Given the description of an element on the screen output the (x, y) to click on. 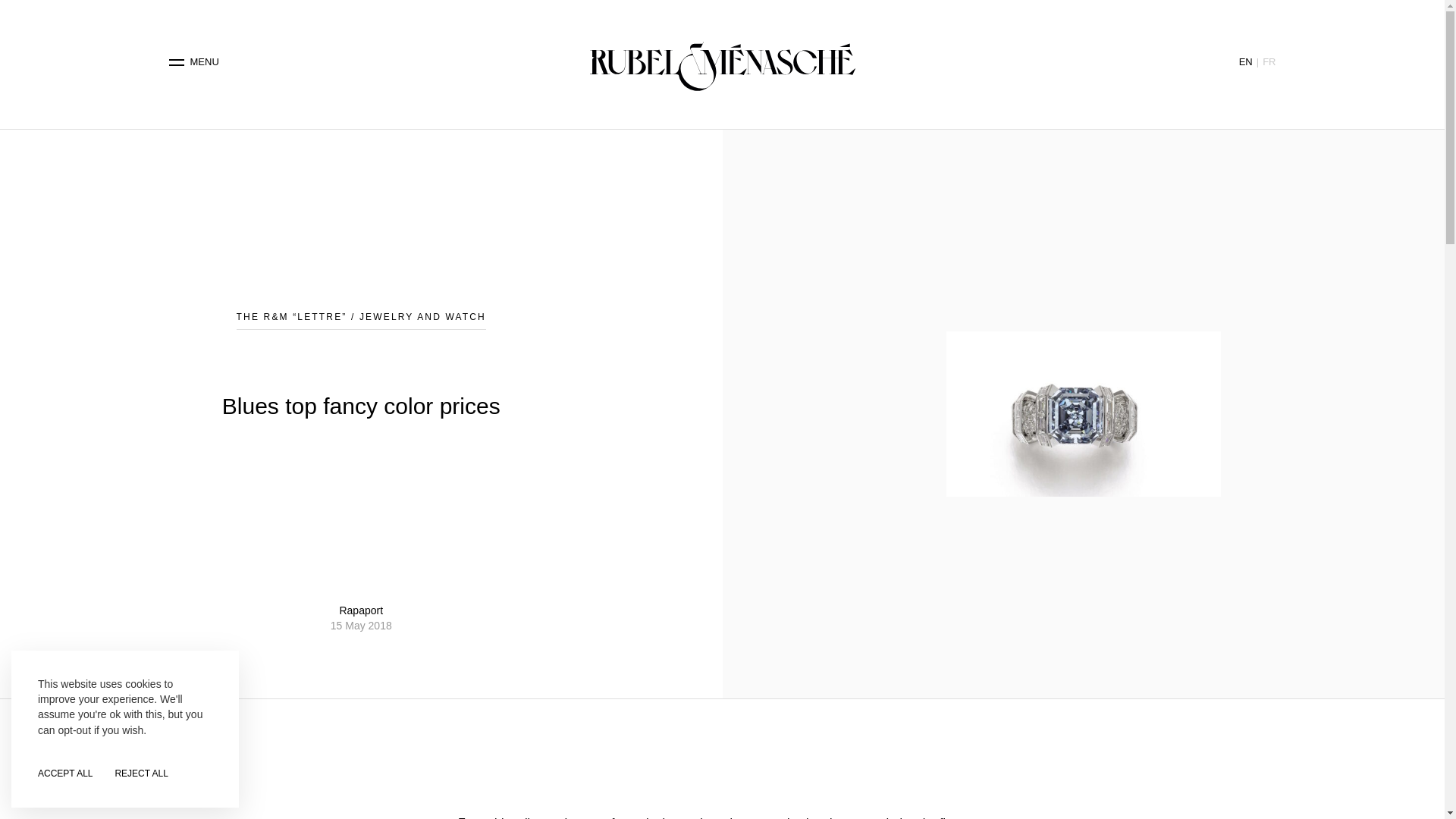
ACCEPT ALL (65, 773)
MENU (194, 61)
REJECT ALL (141, 773)
FR (1268, 61)
EN (1245, 61)
